Given the description of an element on the screen output the (x, y) to click on. 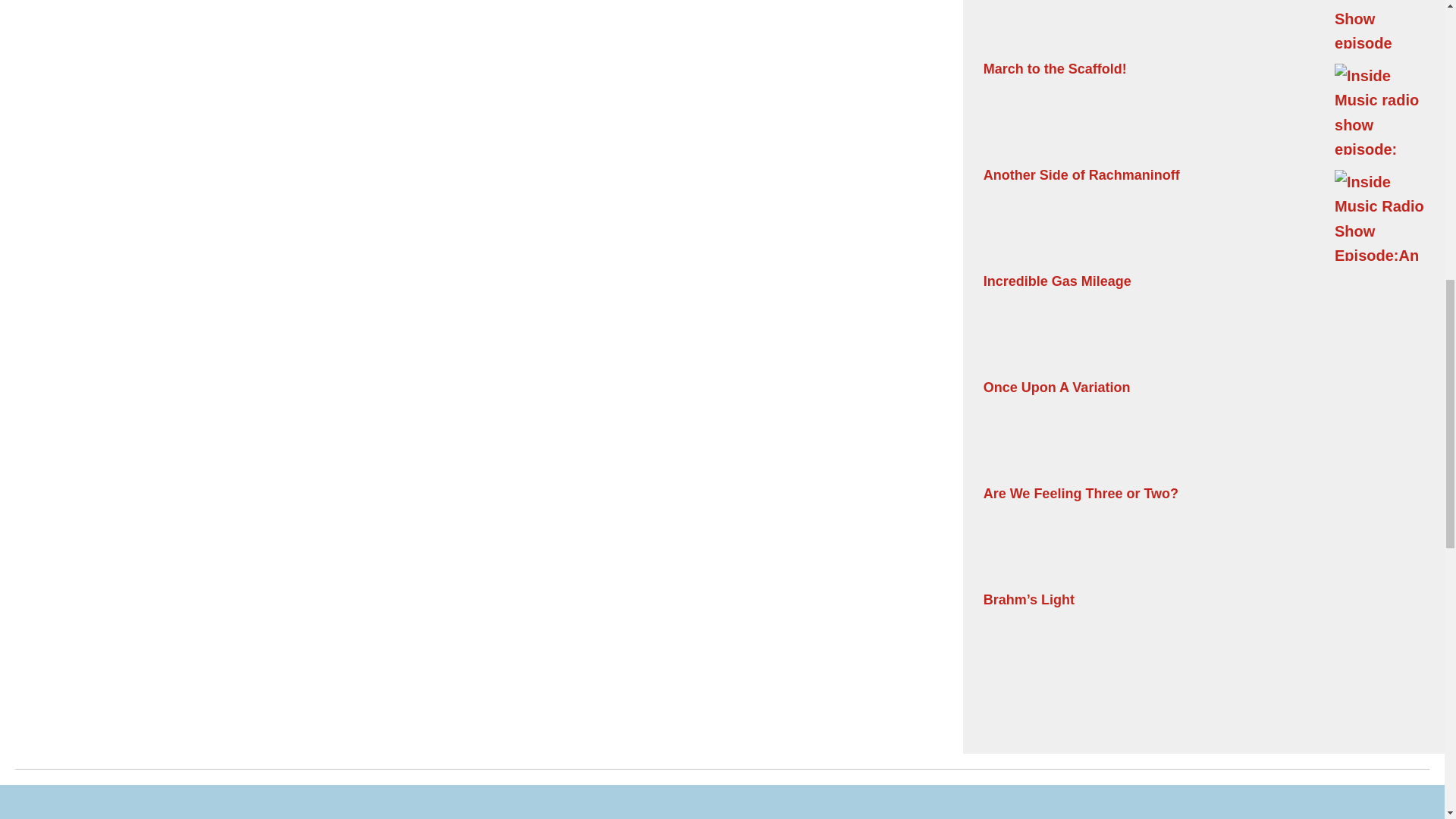
Once Upon A Variation (1203, 426)
Another Side of Rachmaninoff (1203, 214)
March to the Scaffold! (1203, 108)
A Cry Of Despair Part 1 (1203, 25)
Incredible Gas Mileage (1203, 320)
Are We Feeling Three or Two? (1203, 533)
